Given the description of an element on the screen output the (x, y) to click on. 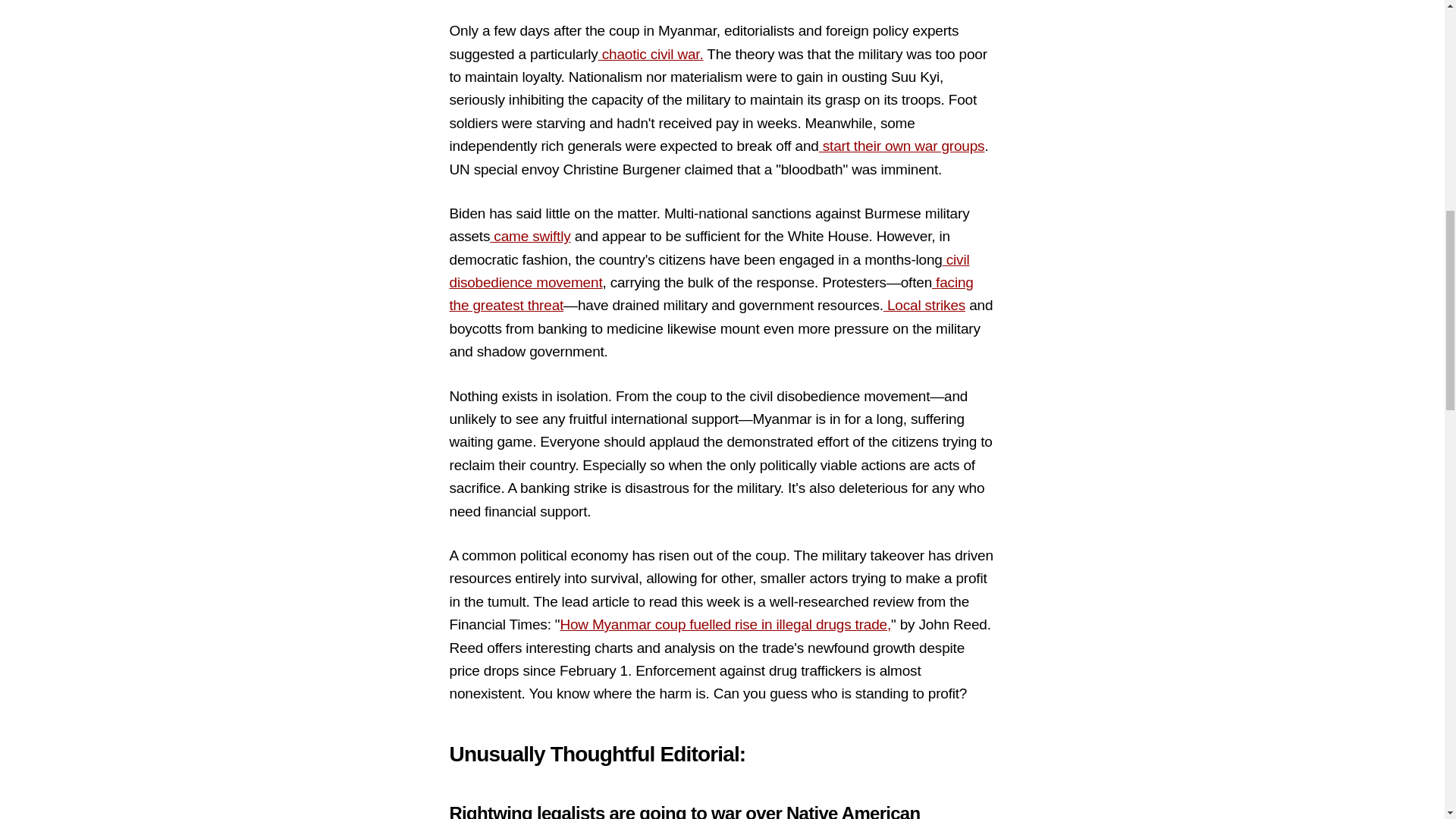
start their own war groups (901, 145)
Local strikes (924, 304)
chaotic civil war. (650, 53)
civil disobedience movement (708, 270)
facing the greatest threat (710, 293)
came swiftly (529, 236)
How Myanmar coup fuelled rise in illegal drugs trade, (725, 624)
